Given the description of an element on the screen output the (x, y) to click on. 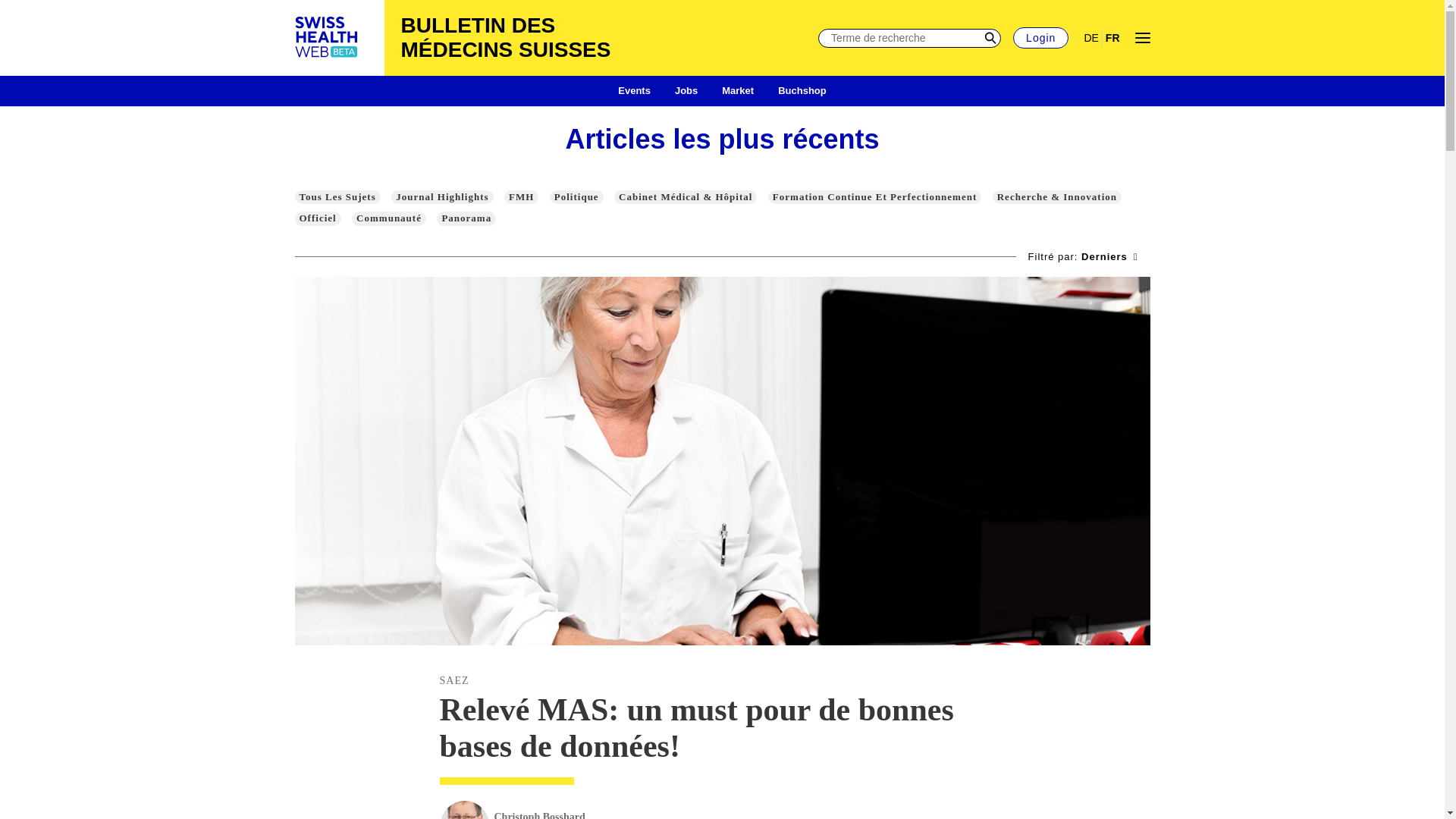
Tous Les Sujets Element type: text (336, 196)
Formation Continue Et Perfectionnement Element type: text (874, 196)
Buchshop Element type: text (802, 90)
Panorama Element type: text (465, 218)
FR Element type: text (1112, 38)
Recherche & Innovation Element type: text (1056, 196)
Politique Element type: text (576, 196)
Journal Highlights Element type: text (441, 196)
Swiss Medical Journal Element type: hover (326, 37)
FMH Element type: text (521, 196)
Officiel Element type: text (317, 218)
Jobs Element type: text (685, 90)
Market Element type: text (737, 90)
Login Element type: text (1040, 37)
DE Element type: text (1090, 38)
Events Element type: text (634, 90)
